Given the description of an element on the screen output the (x, y) to click on. 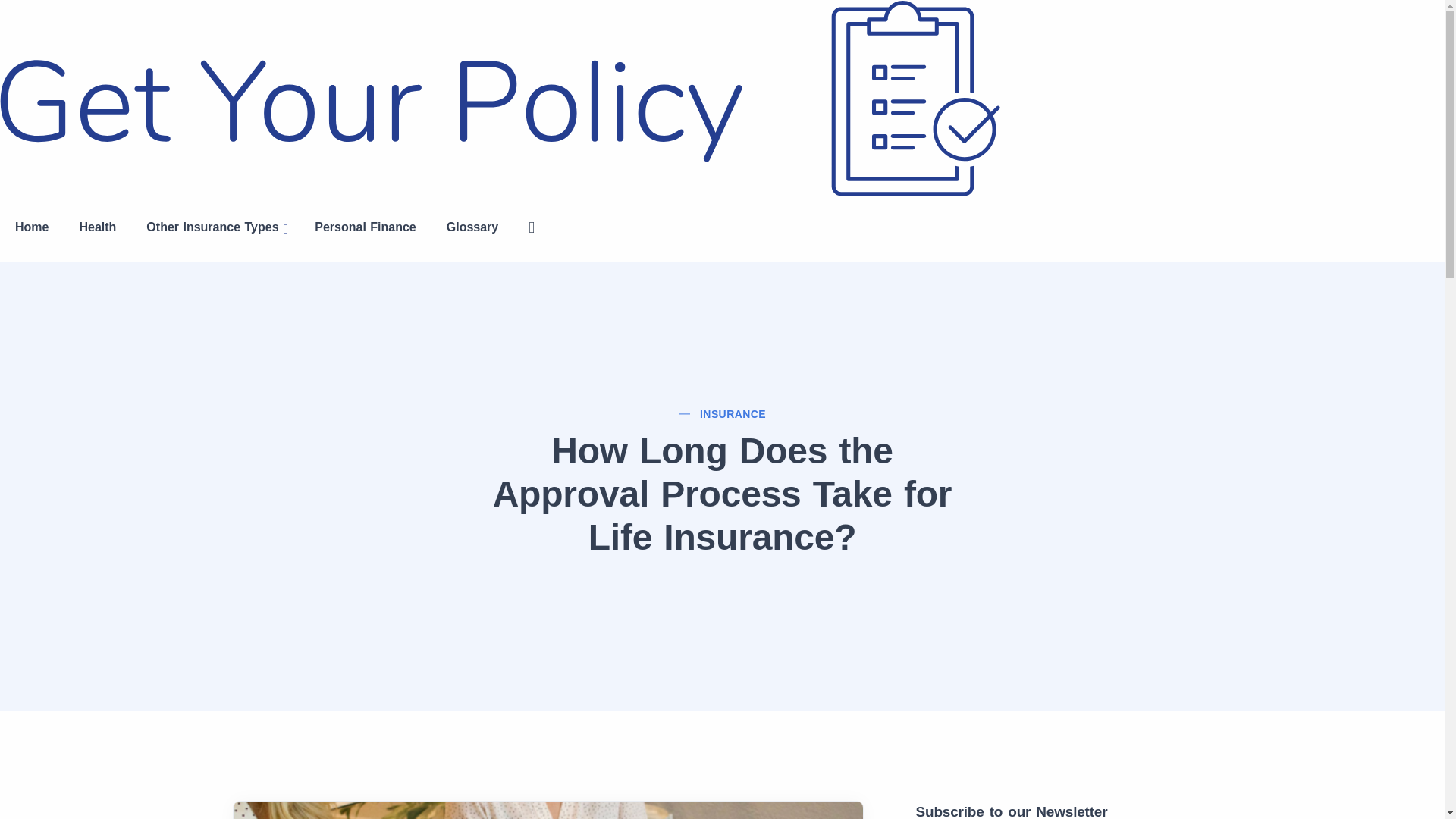
INSURANCE (732, 414)
Other Insurance Types (215, 228)
Personal Finance (365, 226)
